Given the description of an element on the screen output the (x, y) to click on. 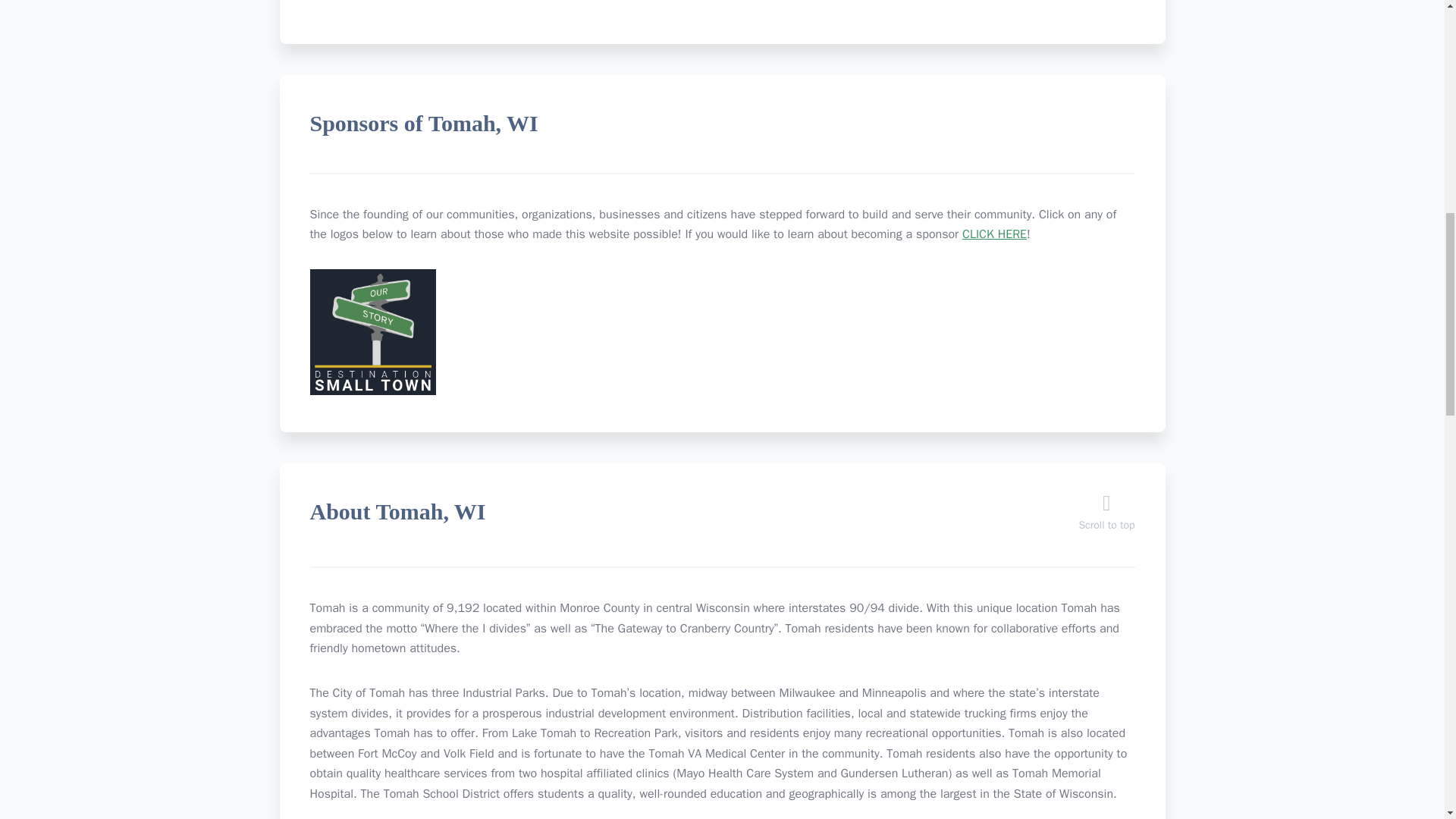
Scroll to top (1106, 517)
Scroll to top of page (1106, 517)
CLICK HERE (994, 233)
